Given the description of an element on the screen output the (x, y) to click on. 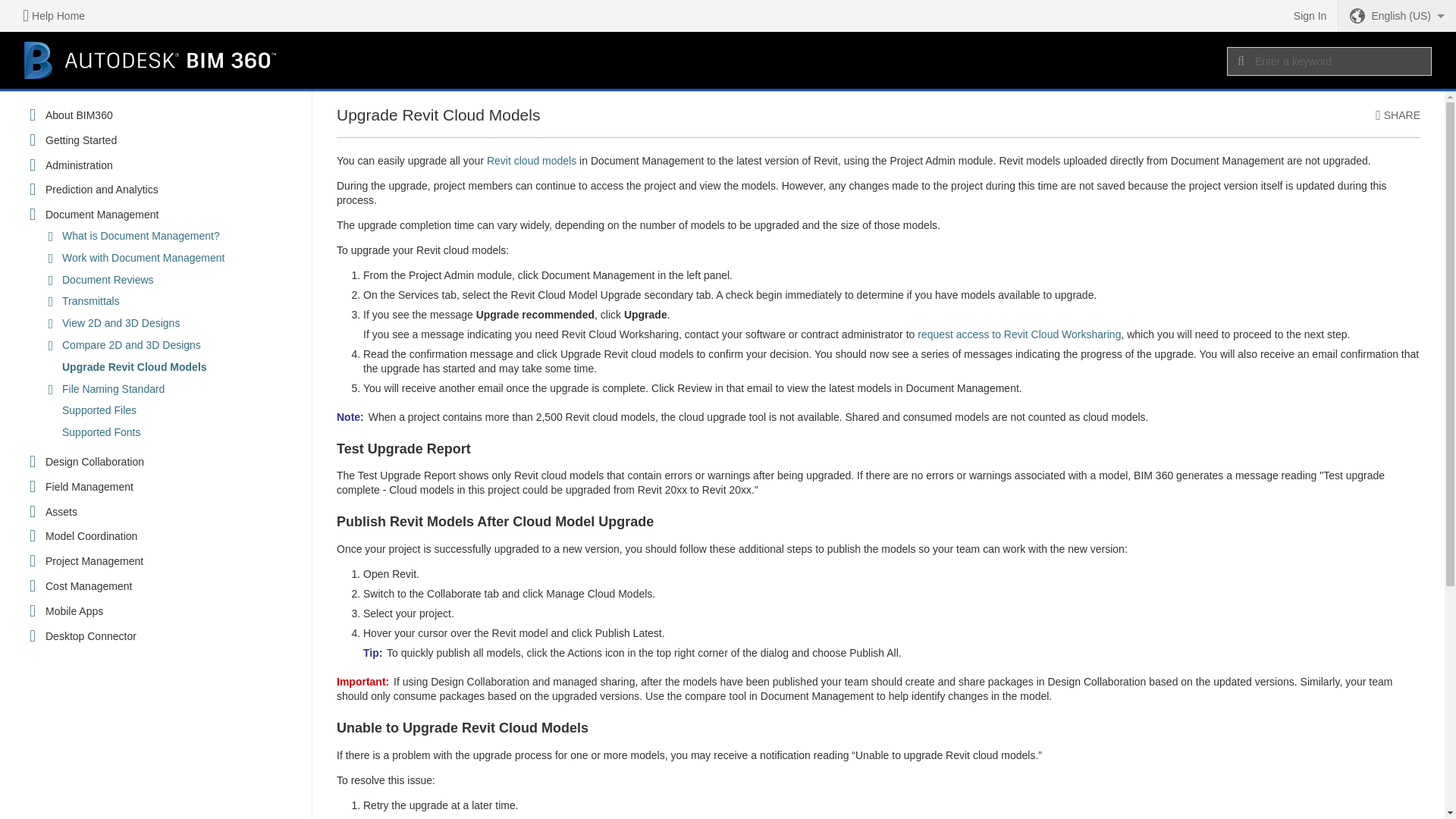
Supported Fonts (101, 431)
Supported Files (99, 410)
Getting Started (80, 140)
Administration (79, 164)
Upgrade Revit Cloud Models (134, 367)
Field Management (89, 486)
Work with Document Management (143, 257)
What is Document Management? (140, 236)
Document Management (101, 214)
About BIM360 (79, 115)
